Given the description of an element on the screen output the (x, y) to click on. 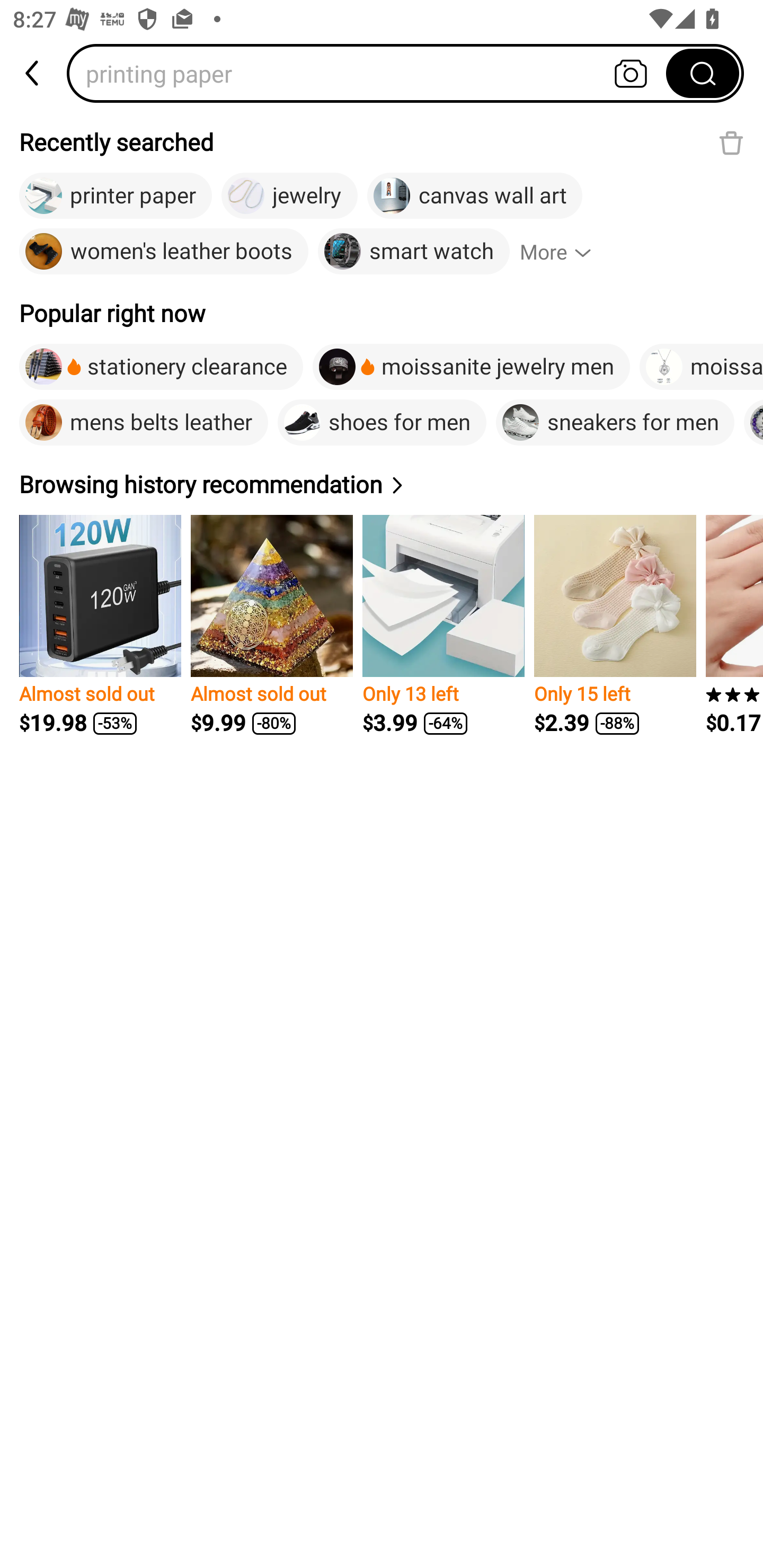
back (33, 72)
printing paper (372, 73)
Search by photo (630, 73)
Delete recent search (731, 142)
printer paper (115, 195)
jewelry (289, 195)
canvas wall art (474, 195)
women's leather boots (163, 251)
smart watch (413, 251)
More (563, 251)
stationery clearance (160, 366)
moissanite jewelry men (471, 366)
moissanite jewelry clearance sale (701, 366)
mens belts leather (143, 422)
shoes for men (381, 422)
sneakers for men (614, 422)
Browsing history recommendation (213, 484)
Almost sold out $19.98 -53% (100, 625)
Almost sold out $9.99 -80% (271, 625)
Only 13 left $3.99 -64% (443, 625)
Only 15 left $2.39 -88% (614, 625)
